Given the description of an element on the screen output the (x, y) to click on. 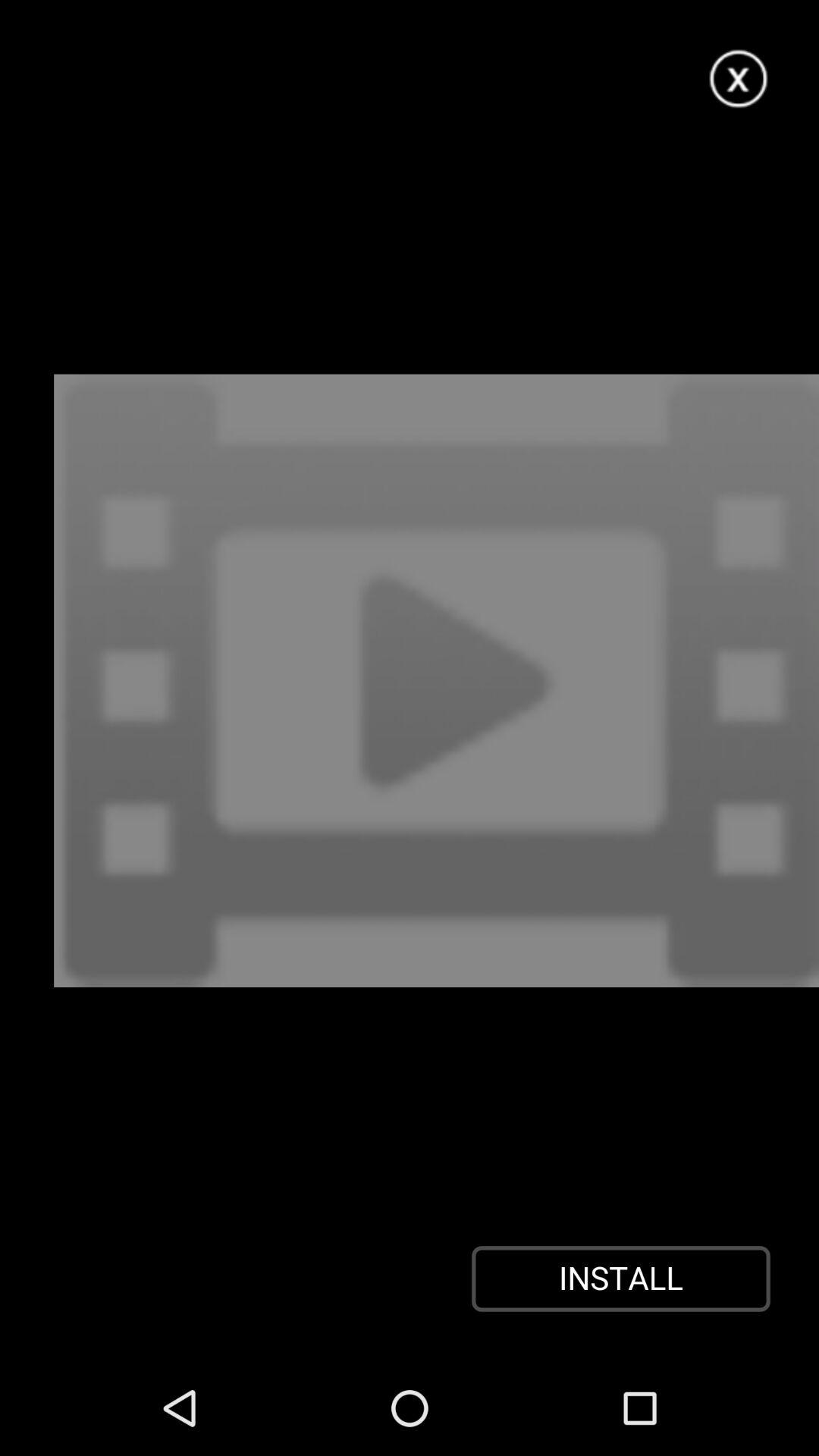
close the app (739, 79)
